Given the description of an element on the screen output the (x, y) to click on. 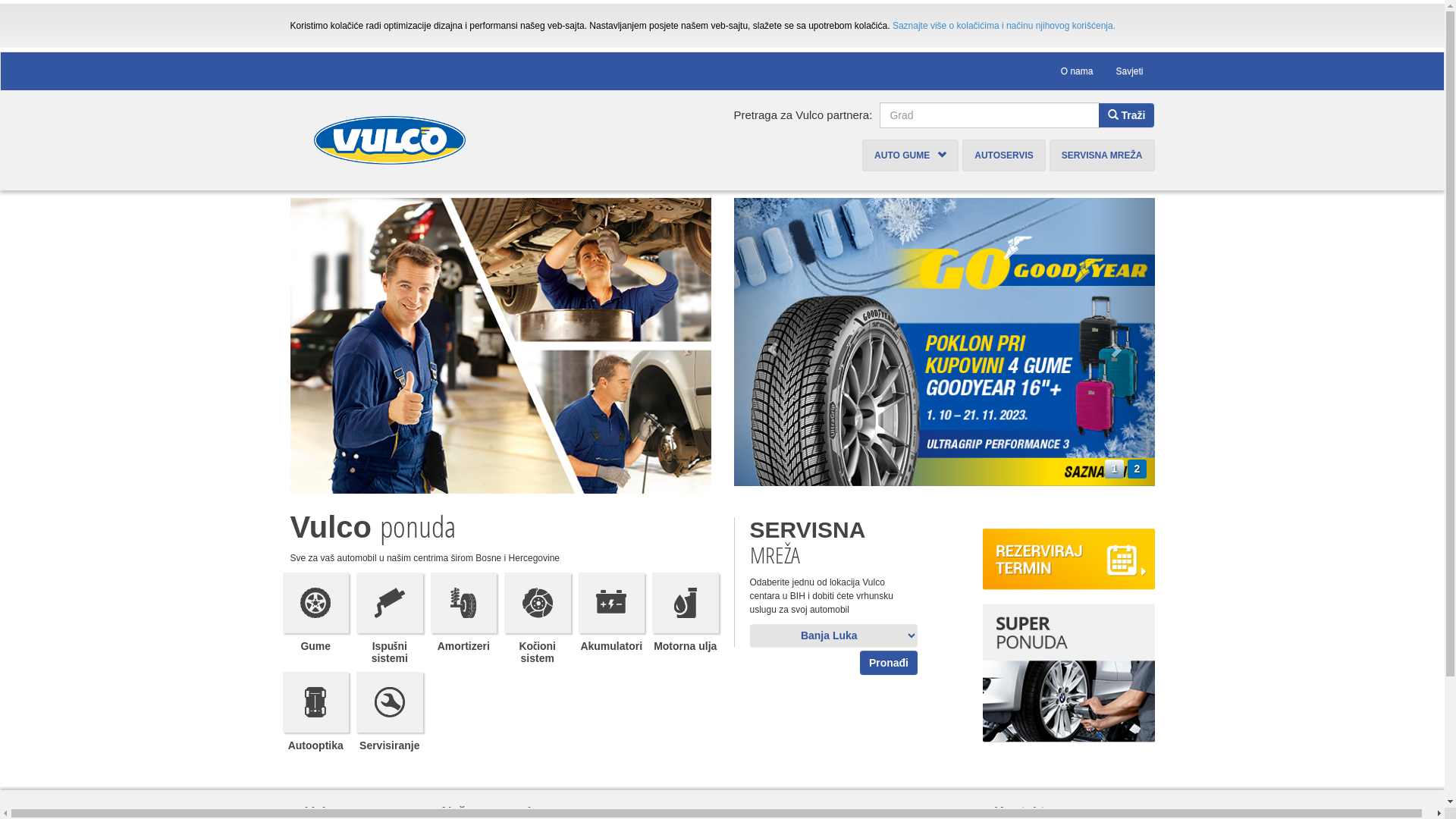
AUTO GUME   Element type: text (909, 155)
Savjeti Element type: text (1129, 71)
AUTOSERVIS Element type: text (1003, 155)
O nama Element type: text (1076, 71)
